Given the description of an element on the screen output the (x, y) to click on. 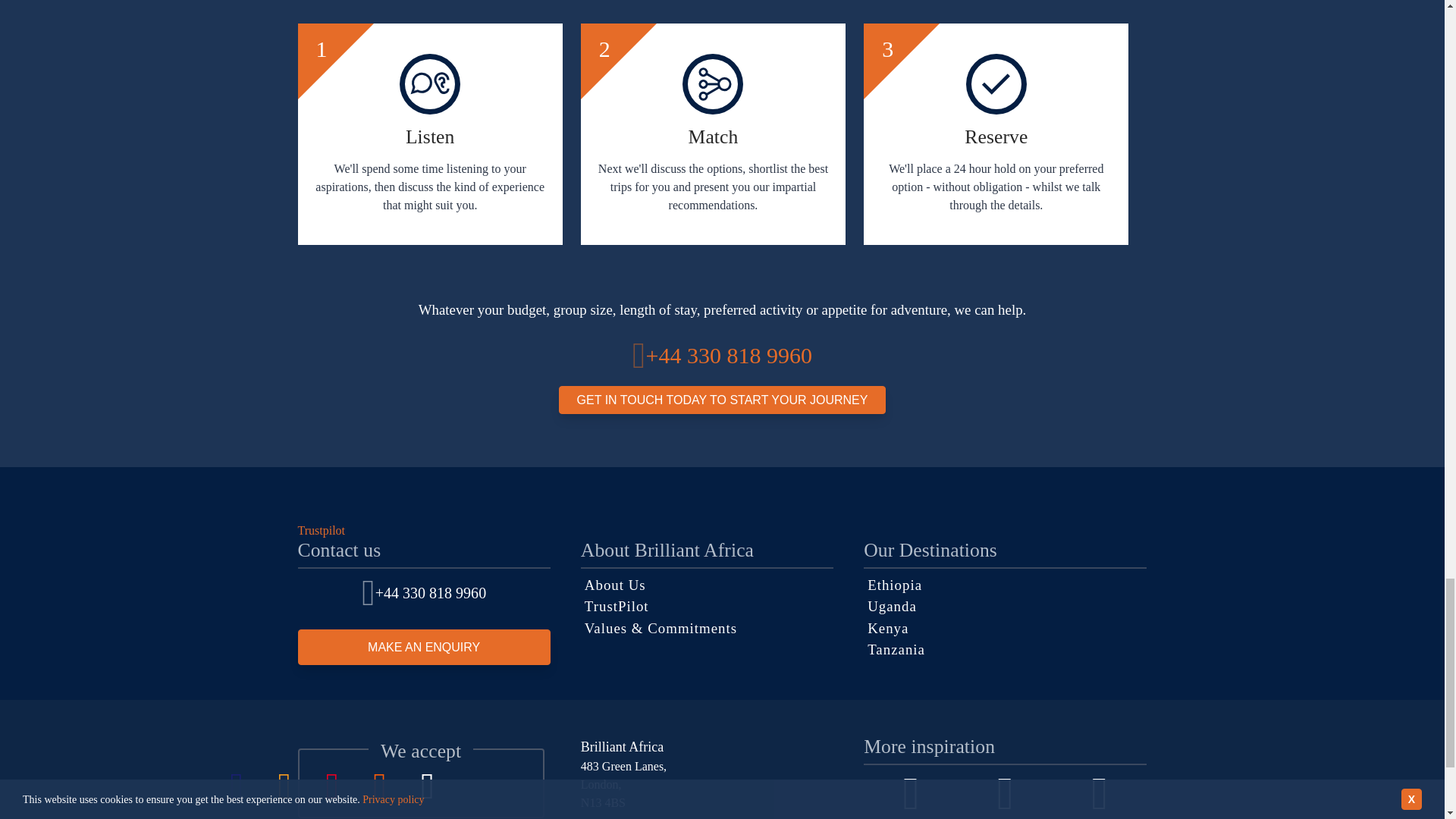
Follow Brilliant Africa on Twitter (1099, 794)
Follow Brilliant Africa on Instagram (1005, 794)
Follow Brilliant Africa on Facebook (910, 794)
